Given the description of an element on the screen output the (x, y) to click on. 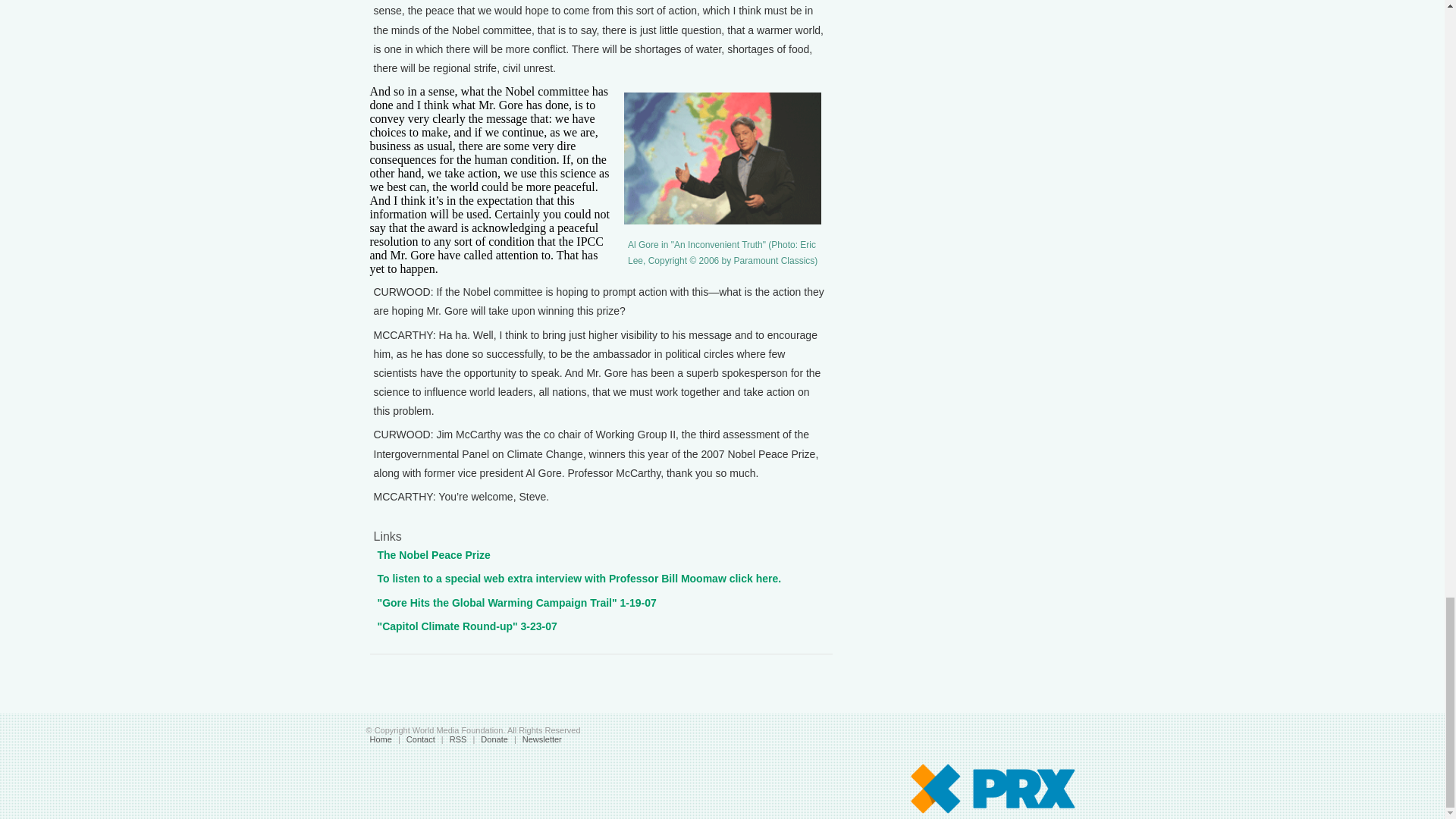
The Nobel Peace Prize (433, 554)
"Capitol Climate Round-up" 3-23-07 (467, 625)
"Gore Hits the Global Warming Campaign Trail" 1-19-07 (516, 603)
